Given the description of an element on the screen output the (x, y) to click on. 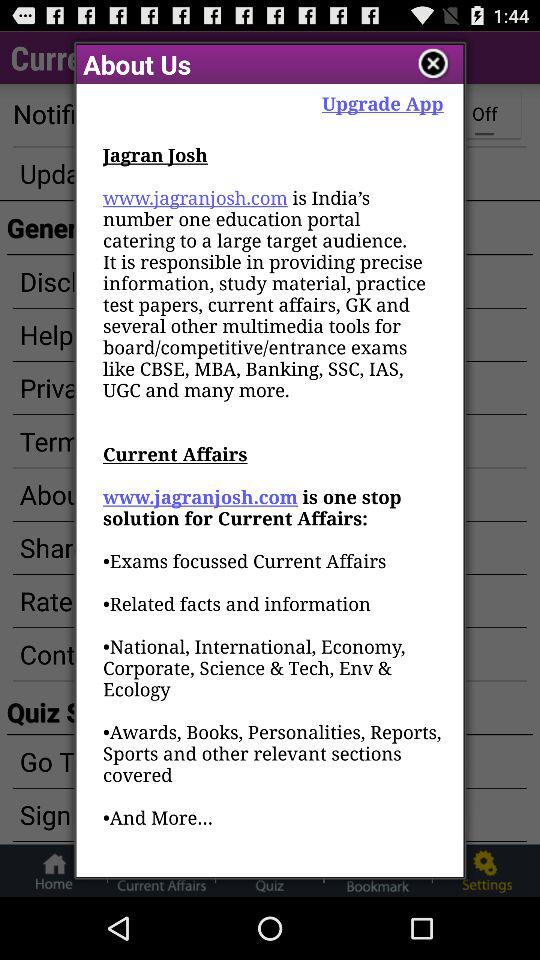
turn off the item below upgrade app item (273, 509)
